Given the description of an element on the screen output the (x, y) to click on. 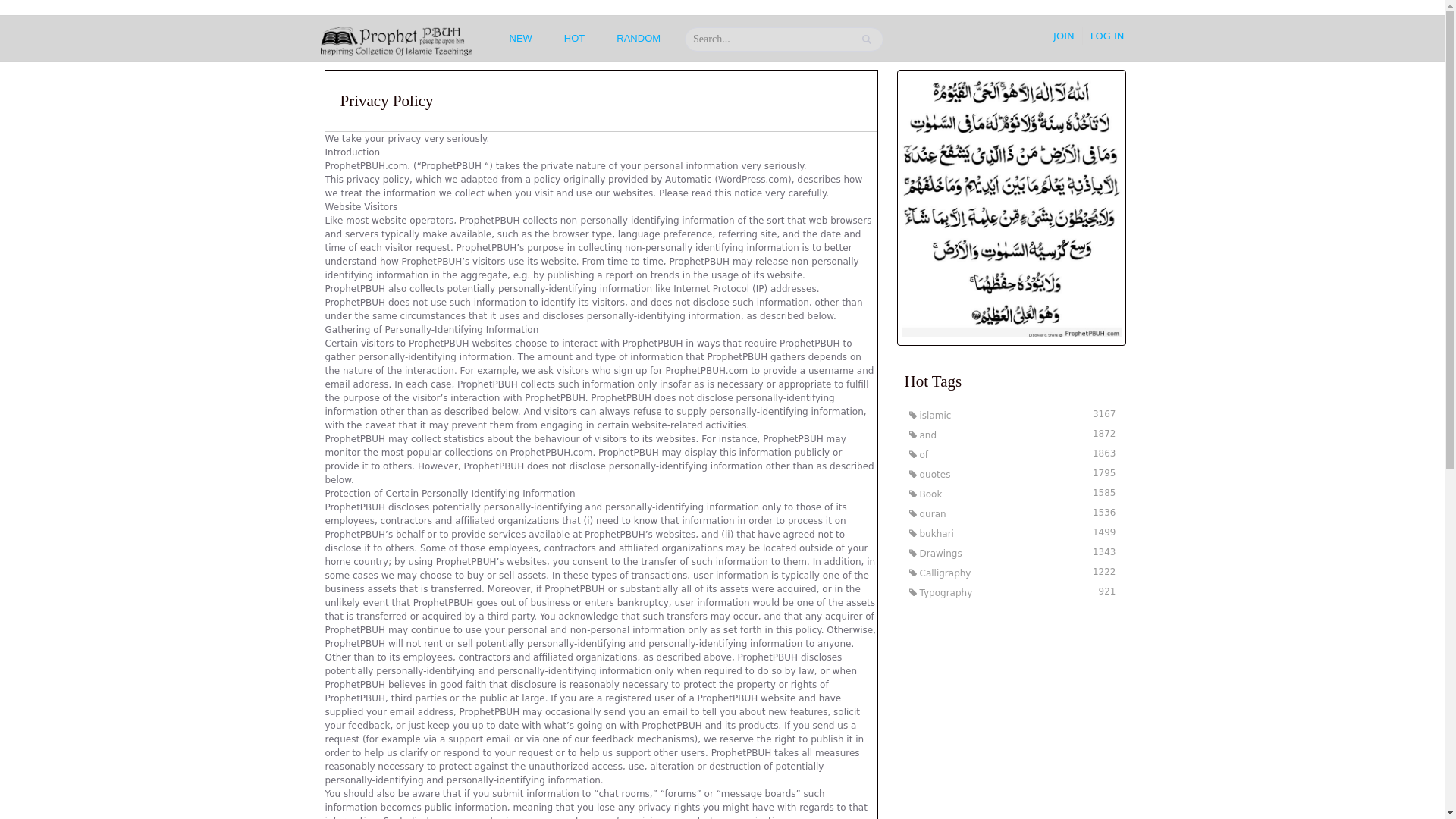
NEW (1011, 414)
HOT (521, 38)
LOG IN (1011, 513)
RANDOM (574, 38)
JOIN (1011, 572)
Search (1011, 532)
